Given the description of an element on the screen output the (x, y) to click on. 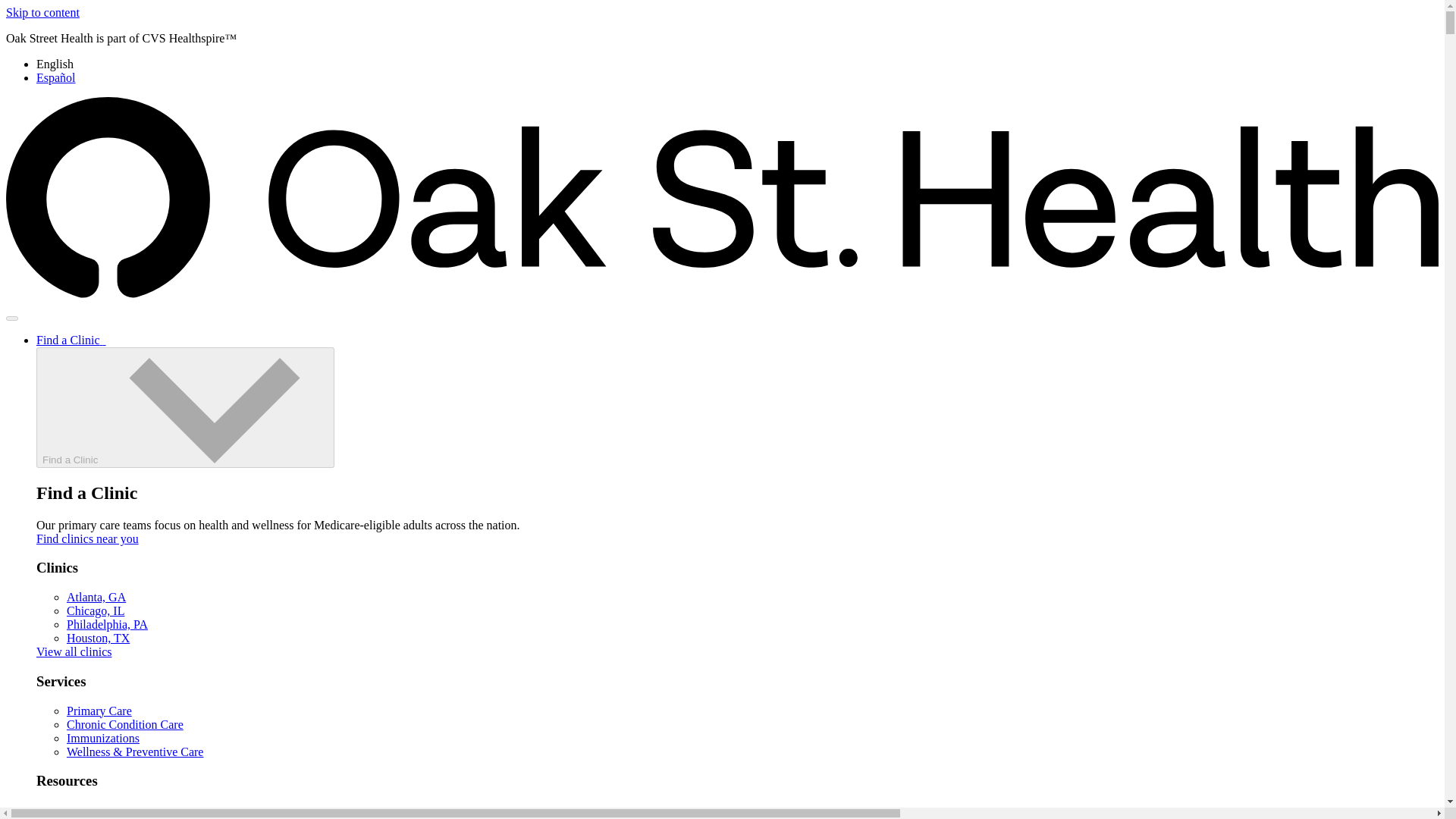
Chronic Condition Care (124, 724)
Philadelphia, PA (107, 624)
Skip to content (42, 11)
Houston, TX (97, 637)
Find a Clinic   (71, 339)
Primary Care (99, 710)
Chicago, IL (94, 610)
View all clinics (74, 651)
Immunizations (102, 738)
Find clinics near you (87, 538)
Atlanta, GA (95, 596)
Find a Clinic (185, 407)
